Given the description of an element on the screen output the (x, y) to click on. 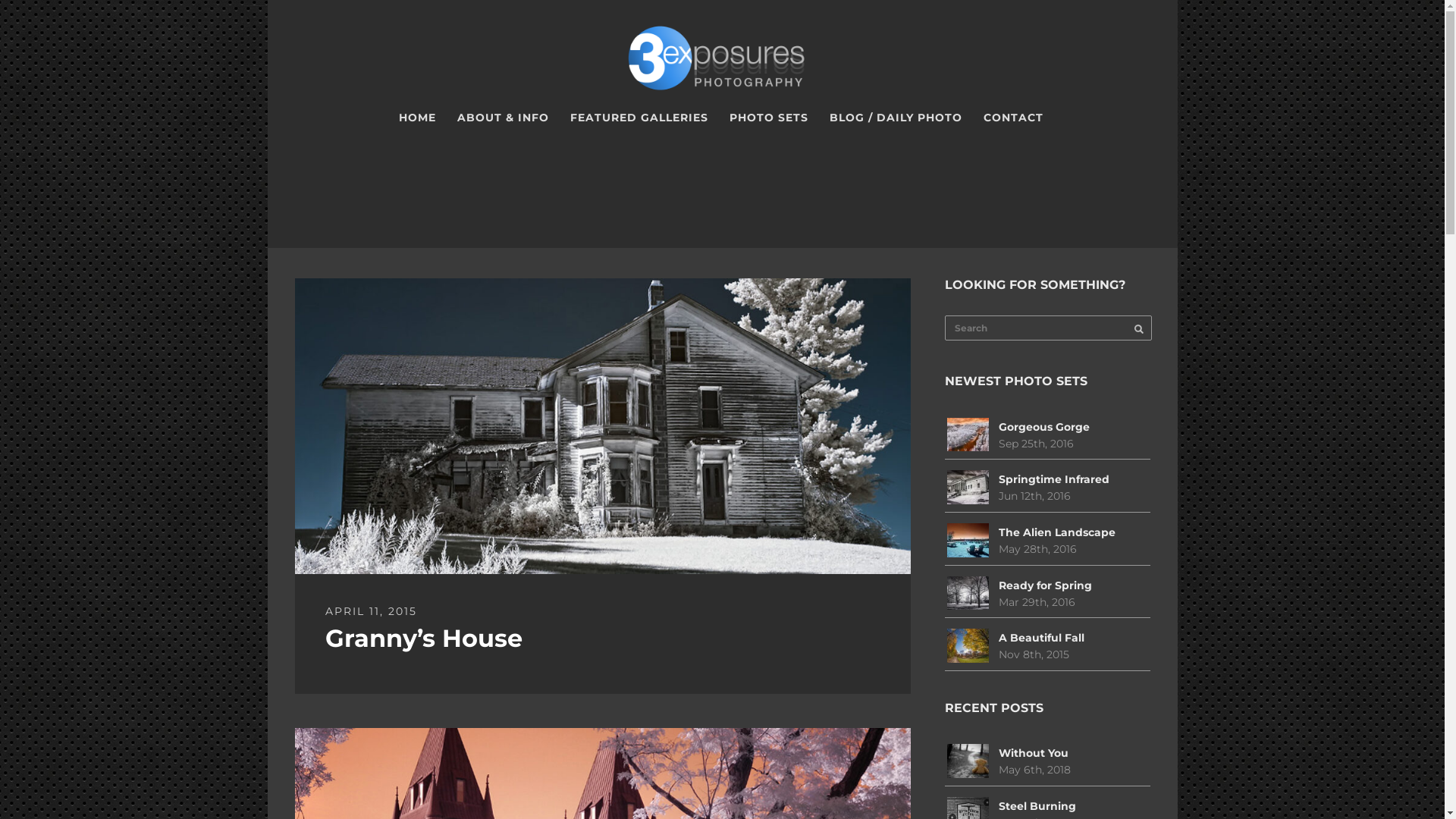
HOME Element type: text (417, 117)
Without You Element type: text (1033, 752)
BLOG / DAILY PHOTO Element type: text (895, 117)
Steel Burning Element type: text (1037, 805)
The Alien Landscape Element type: text (1056, 532)
A Beautiful Fall Element type: text (1041, 637)
PHOTO SETS Element type: text (768, 117)
FEATURED GALLERIES Element type: text (638, 117)
CONTACT Element type: text (1012, 117)
Ready for Spring Element type: text (1045, 585)
ABOUT & INFO Element type: text (501, 117)
Gorgeous Gorge Element type: text (1043, 426)
Springtime Infrared Element type: text (1053, 479)
